Given the description of an element on the screen output the (x, y) to click on. 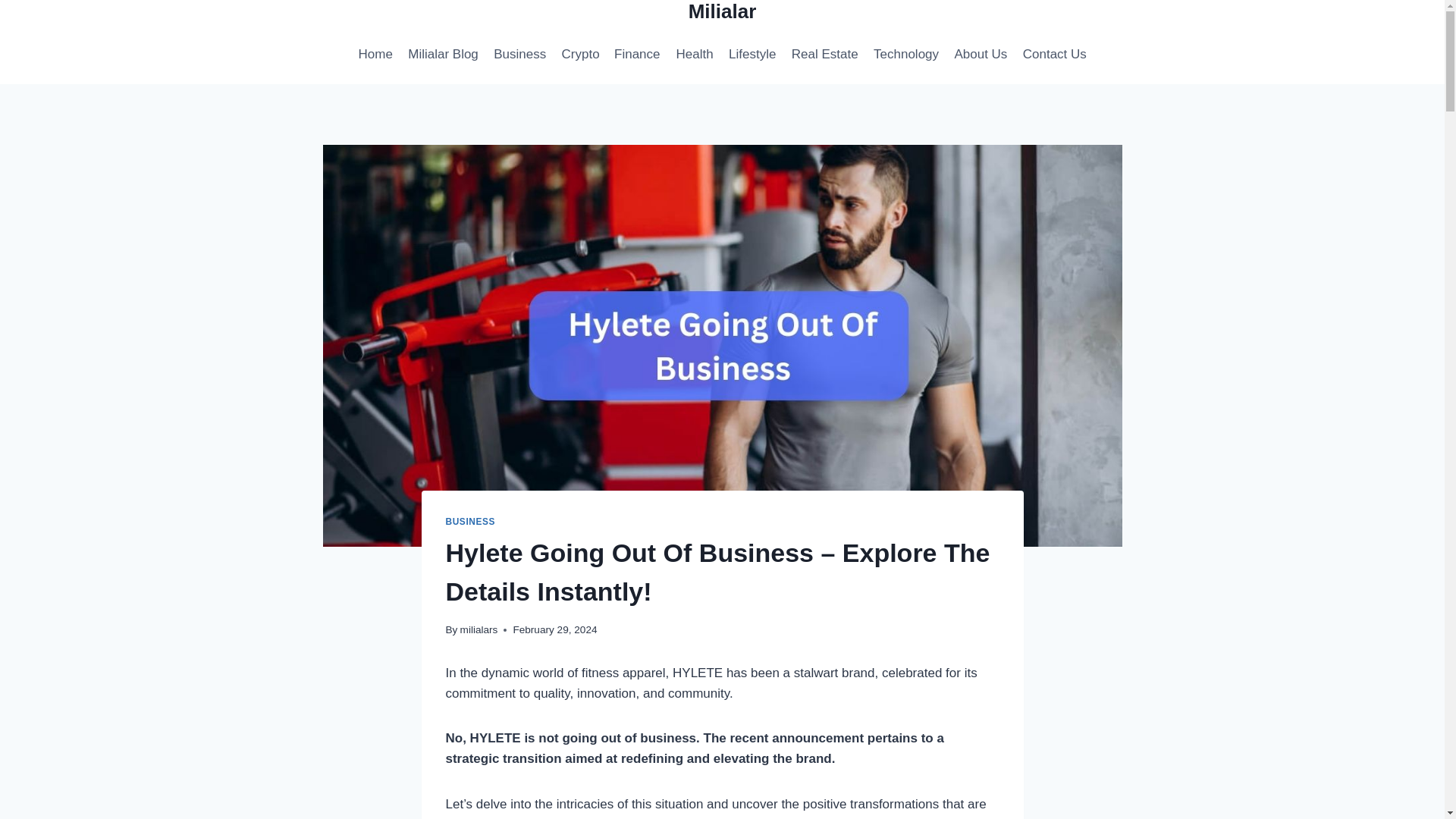
Finance (637, 54)
milialars (478, 629)
Milialar (722, 11)
About Us (980, 54)
Lifestyle (752, 54)
Real Estate (825, 54)
Contact Us (1054, 54)
Crypto (580, 54)
Technology (906, 54)
Home (375, 54)
